Given the description of an element on the screen output the (x, y) to click on. 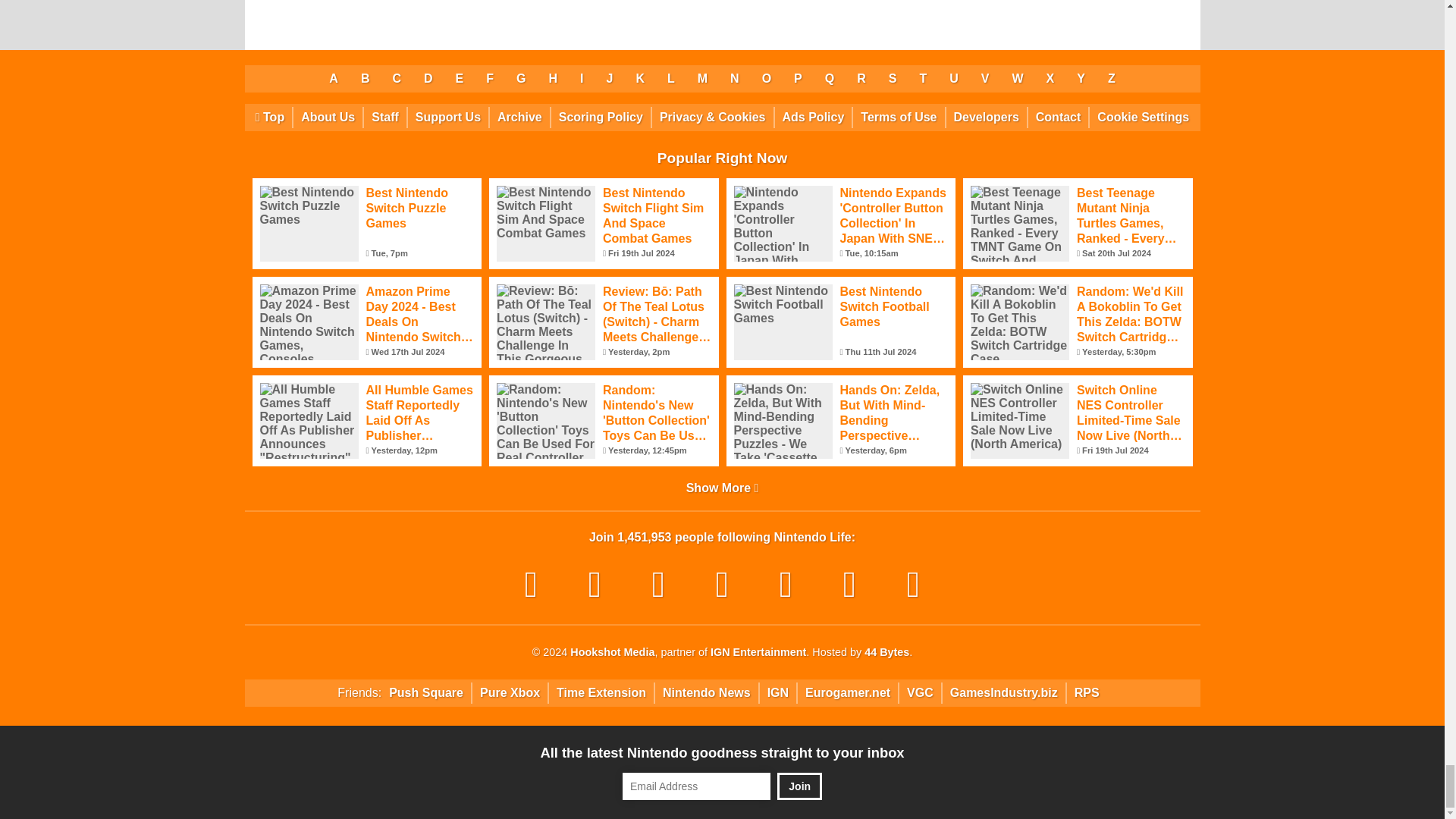
Join (799, 786)
